Given the description of an element on the screen output the (x, y) to click on. 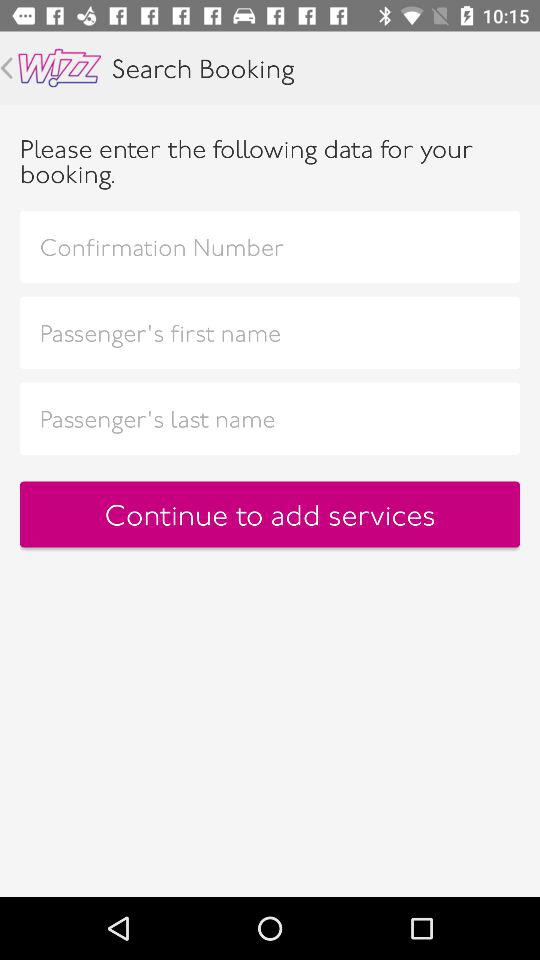
enter last name (269, 418)
